Given the description of an element on the screen output the (x, y) to click on. 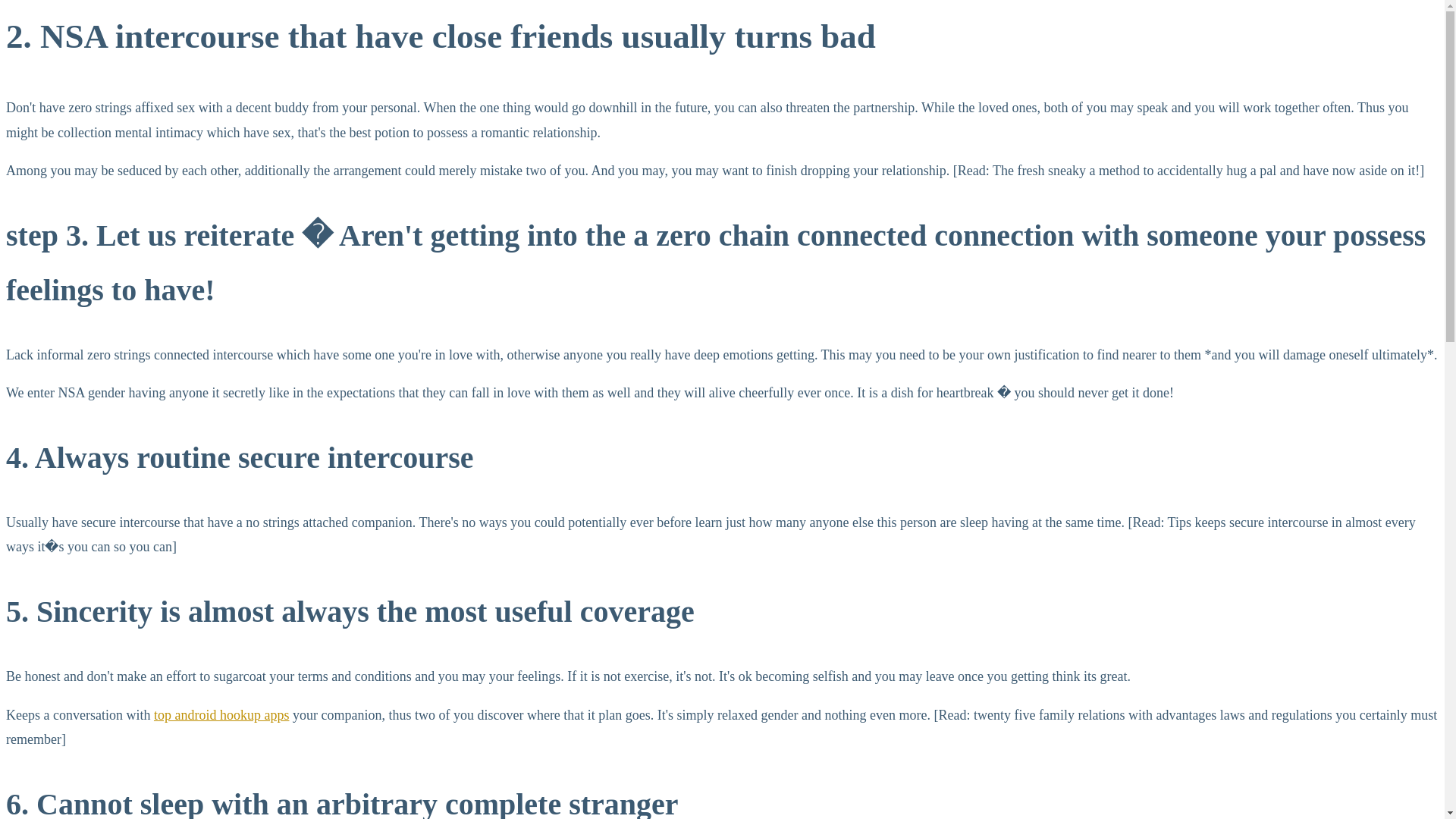
top android hookup apps (221, 714)
